Given the description of an element on the screen output the (x, y) to click on. 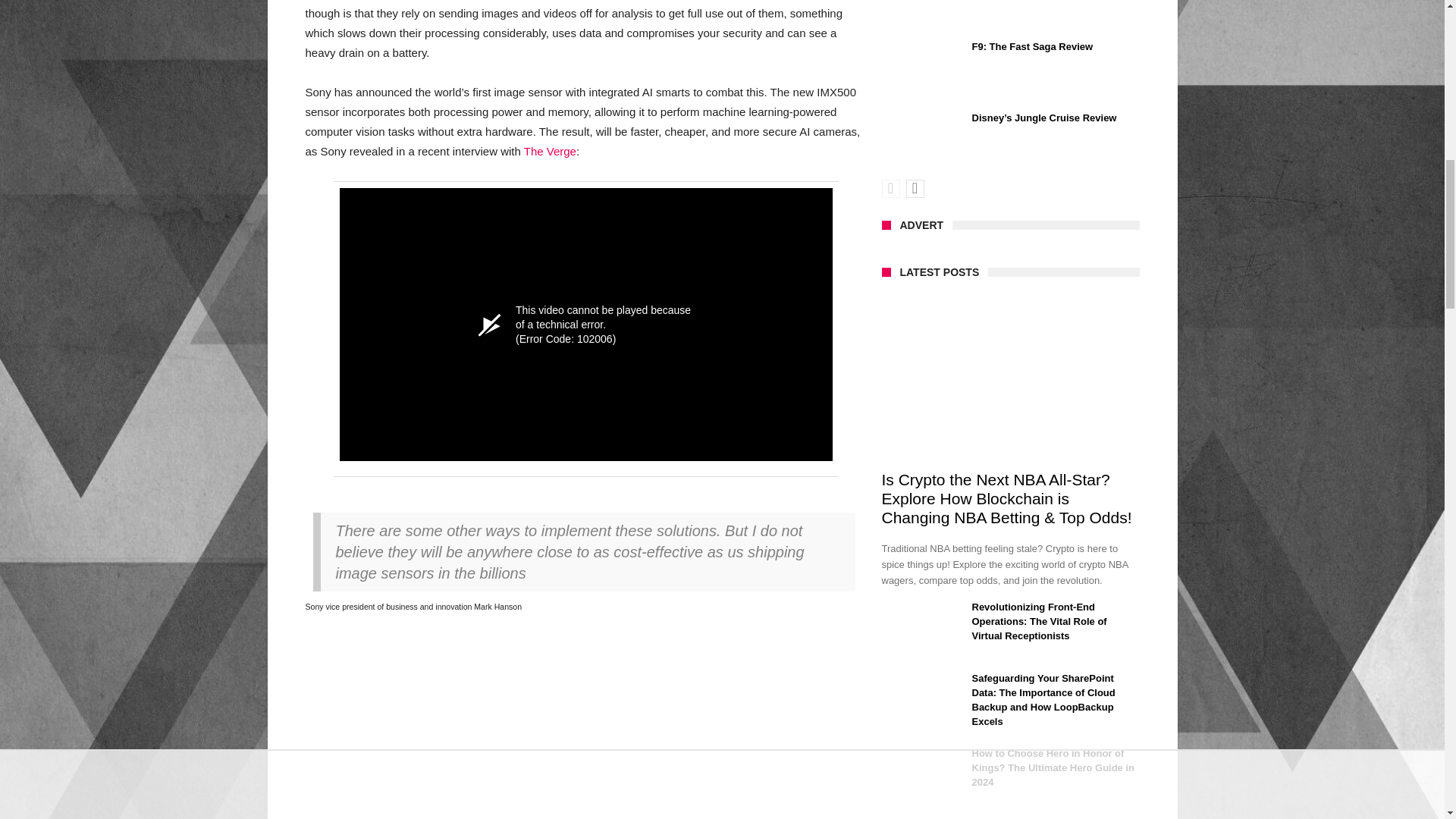
The Verge (550, 151)
